Given the description of an element on the screen output the (x, y) to click on. 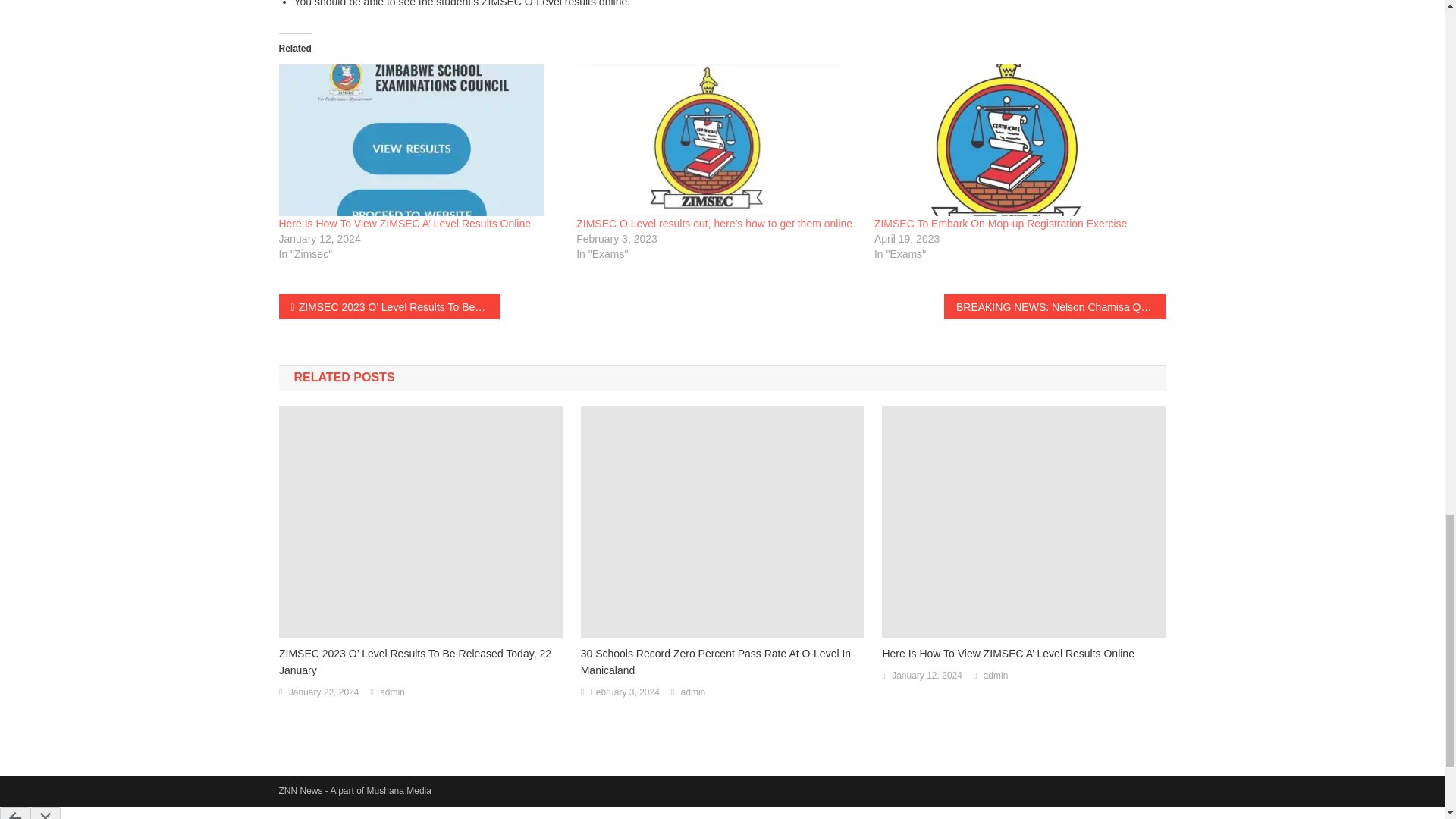
ZIMSEC To Embark On Mop-up Registration Exercise (1000, 223)
BREAKING NEWS: Nelson Chamisa Quits CCC (1054, 306)
admin (693, 692)
admin (996, 676)
January 12, 2024 (926, 676)
ZIMSEC To Embark On Mop-up Registration Exercise (1016, 140)
January 22, 2024 (323, 692)
admin (392, 692)
ZIMSEC To Embark On Mop-up Registration Exercise (1000, 223)
February 3, 2024 (624, 692)
